Given the description of an element on the screen output the (x, y) to click on. 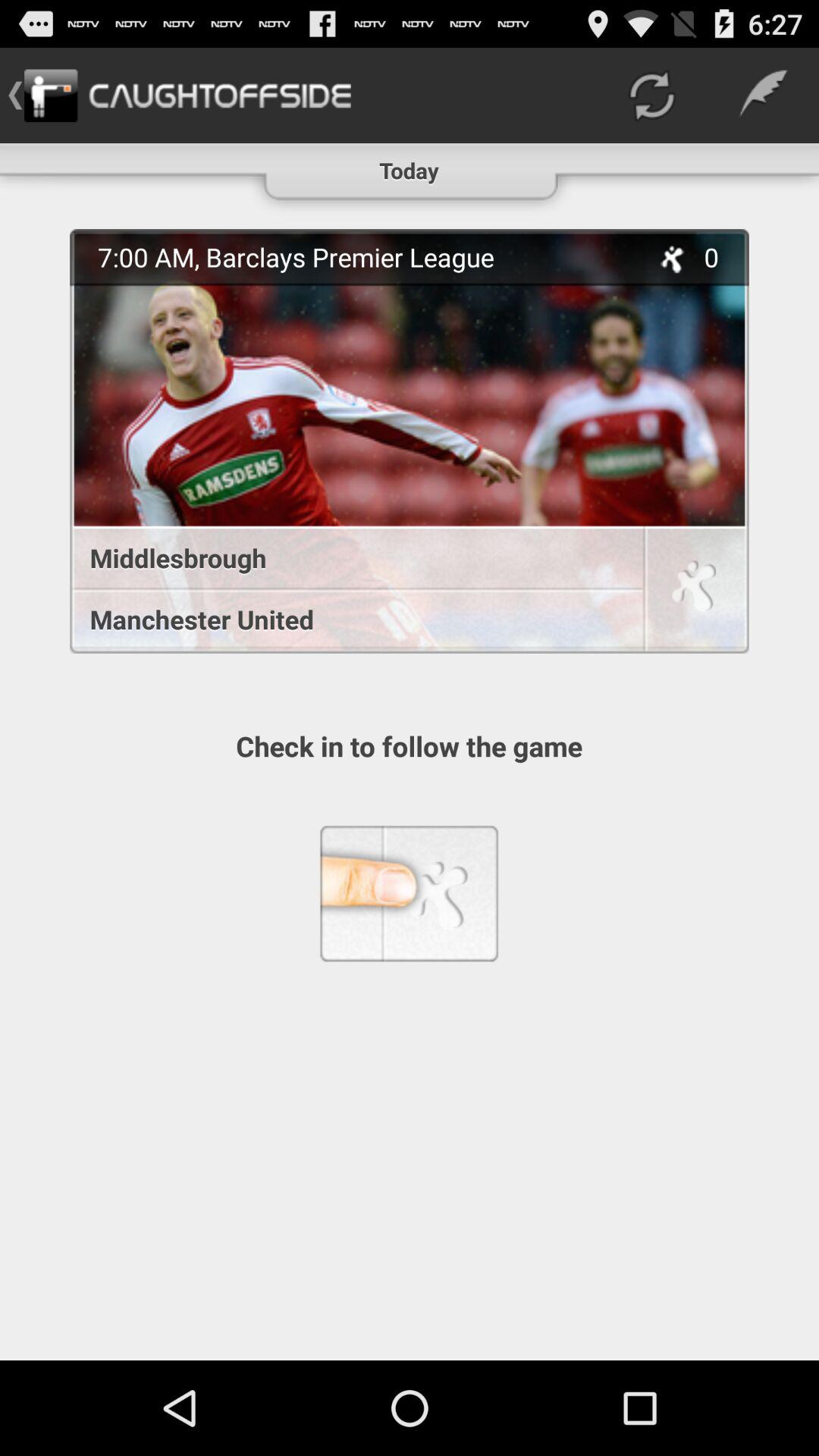
jump until middlesbrough icon (348, 557)
